Given the description of an element on the screen output the (x, y) to click on. 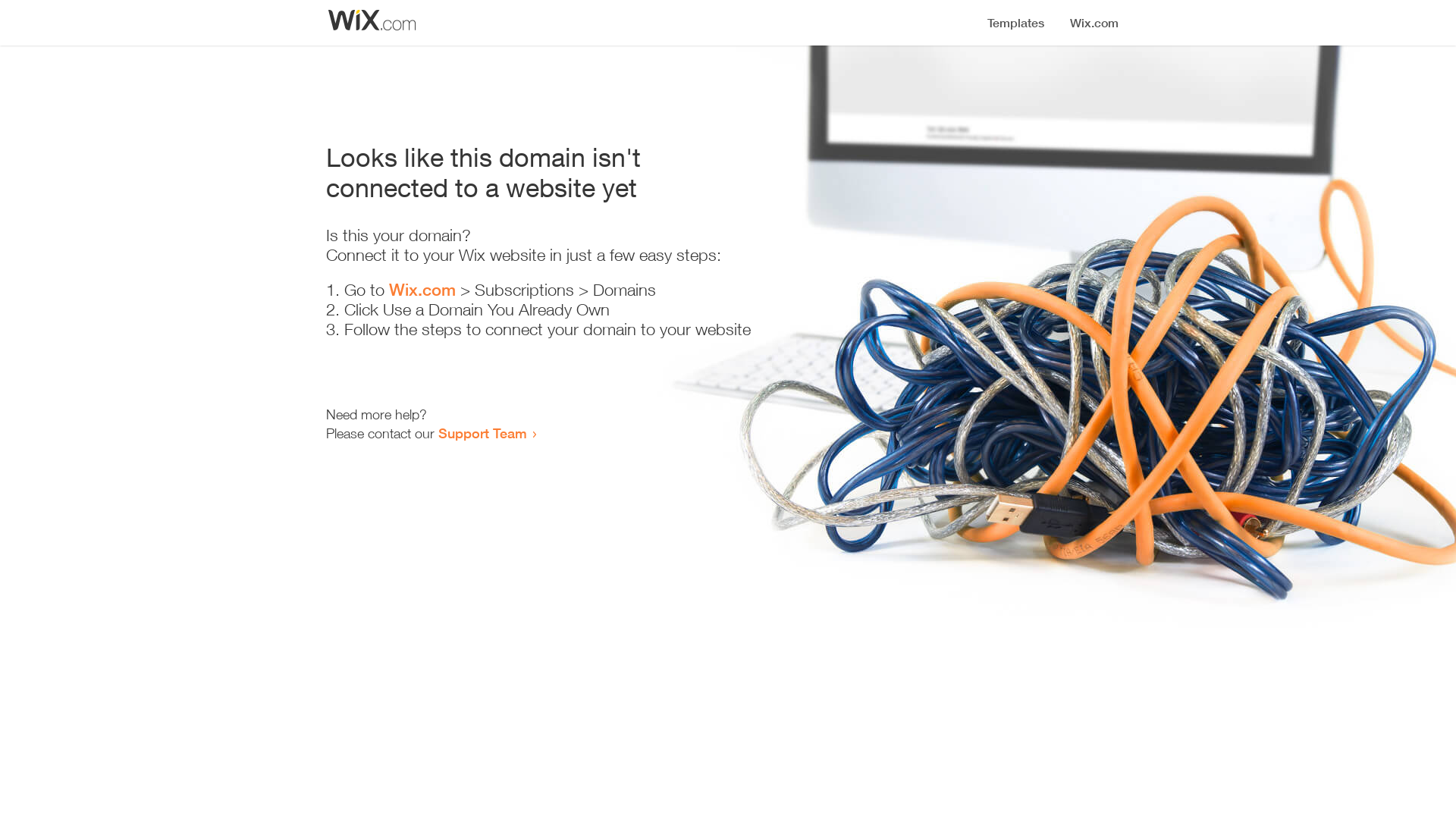
Wix.com Element type: text (422, 289)
Support Team Element type: text (482, 432)
